Given the description of an element on the screen output the (x, y) to click on. 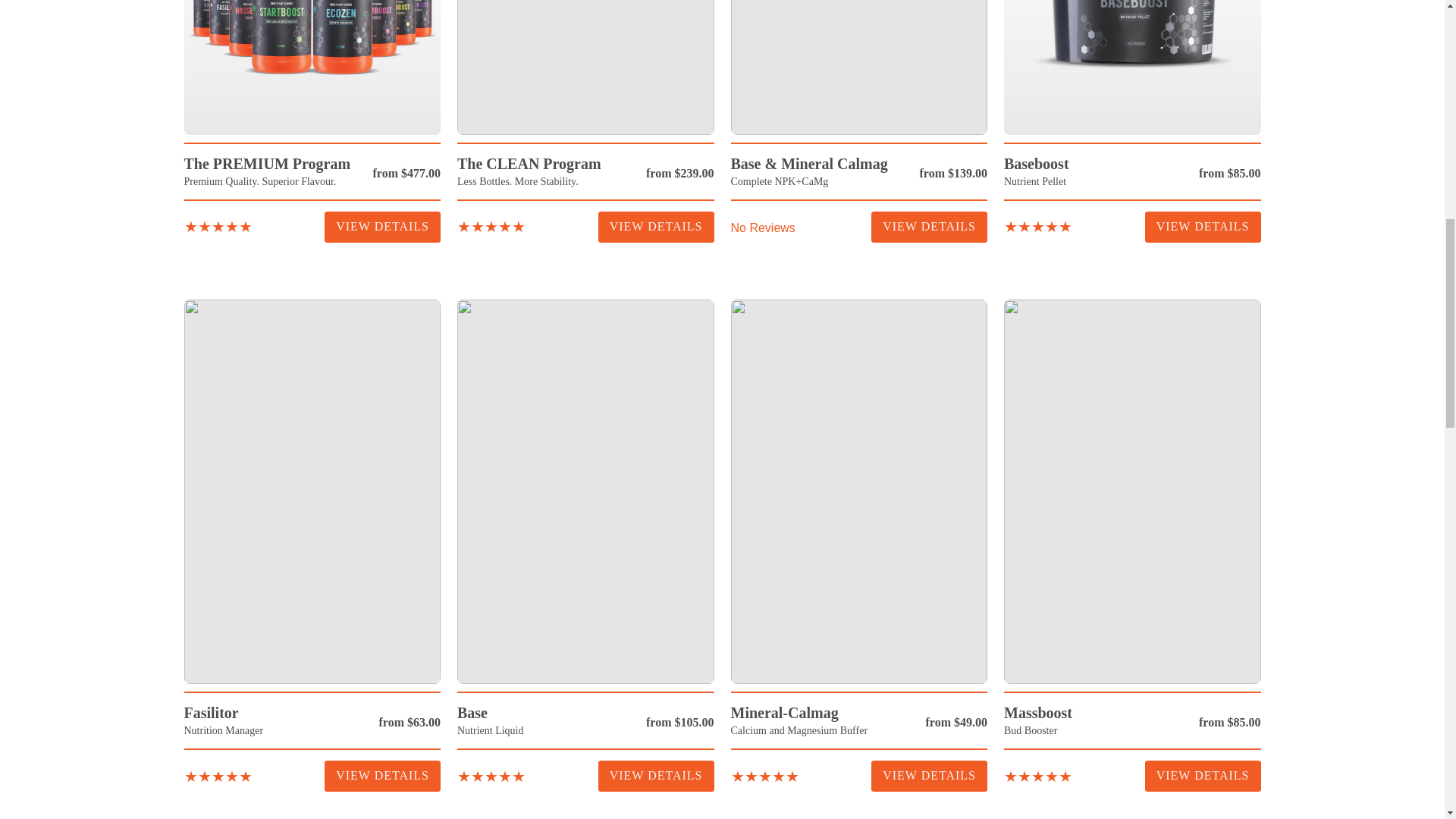
No Reviews (762, 226)
VIEW DETAILS (382, 226)
VIEW DETAILS (656, 226)
